Given the description of an element on the screen output the (x, y) to click on. 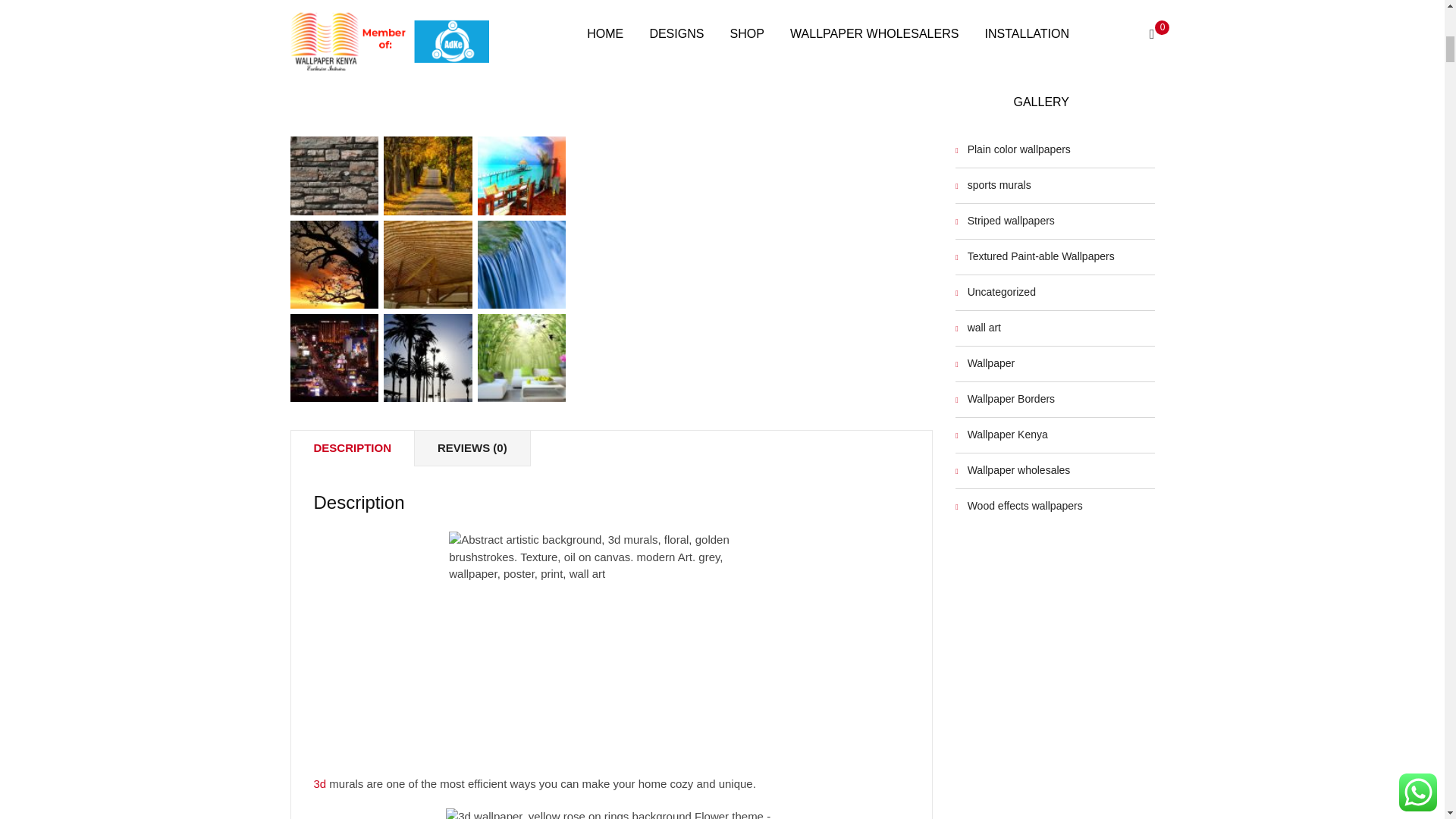
Large Graffiti jazz music wall art (333, 14)
Music music room wallpaper mural (521, 14)
